Given the description of an element on the screen output the (x, y) to click on. 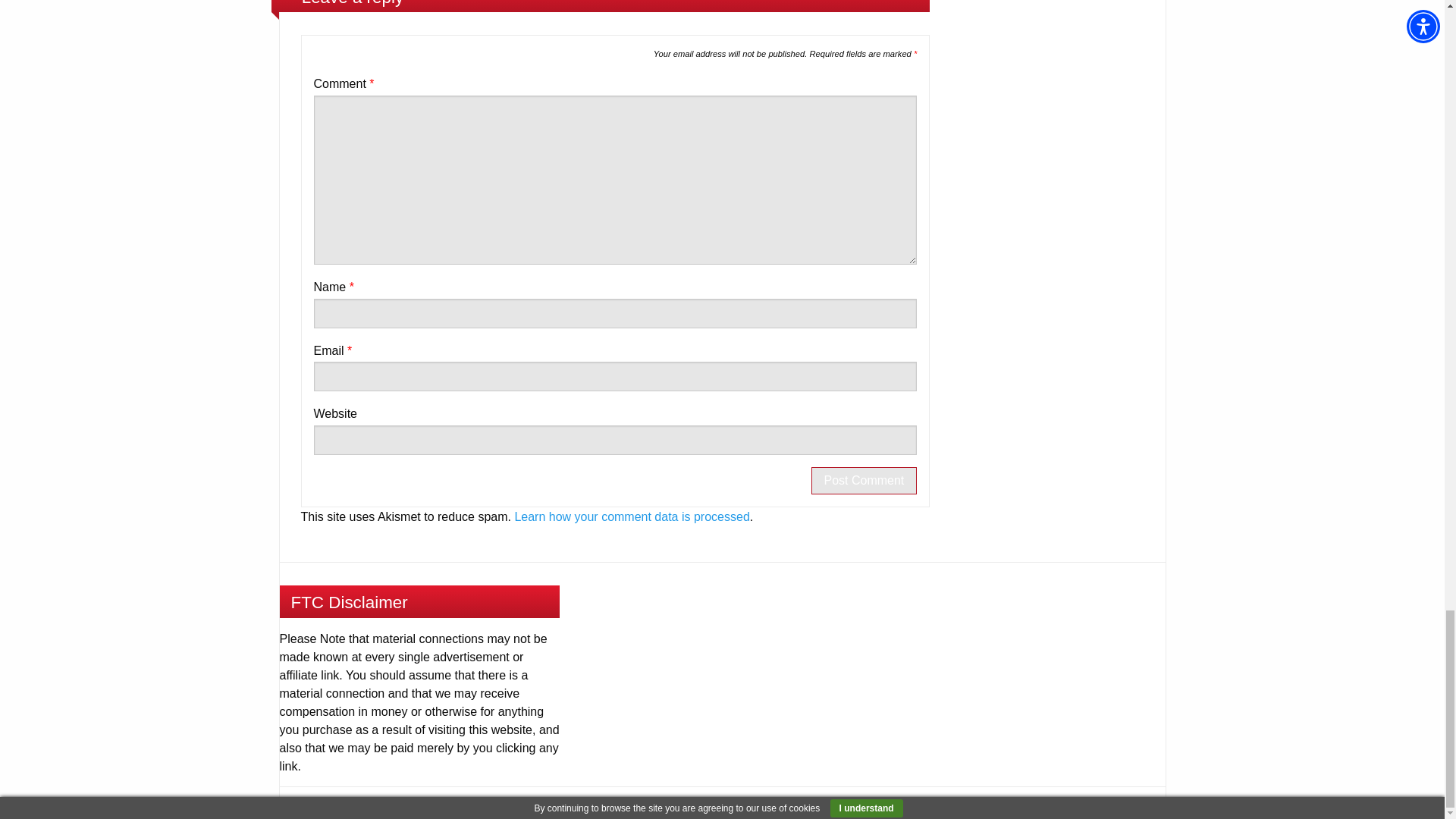
Learn how your comment data is processed (631, 516)
BlogoLife (1126, 802)
Post Comment (863, 480)
WordPress (1005, 802)
Post Comment (863, 480)
StylishWP (1126, 802)
